Given the description of an element on the screen output the (x, y) to click on. 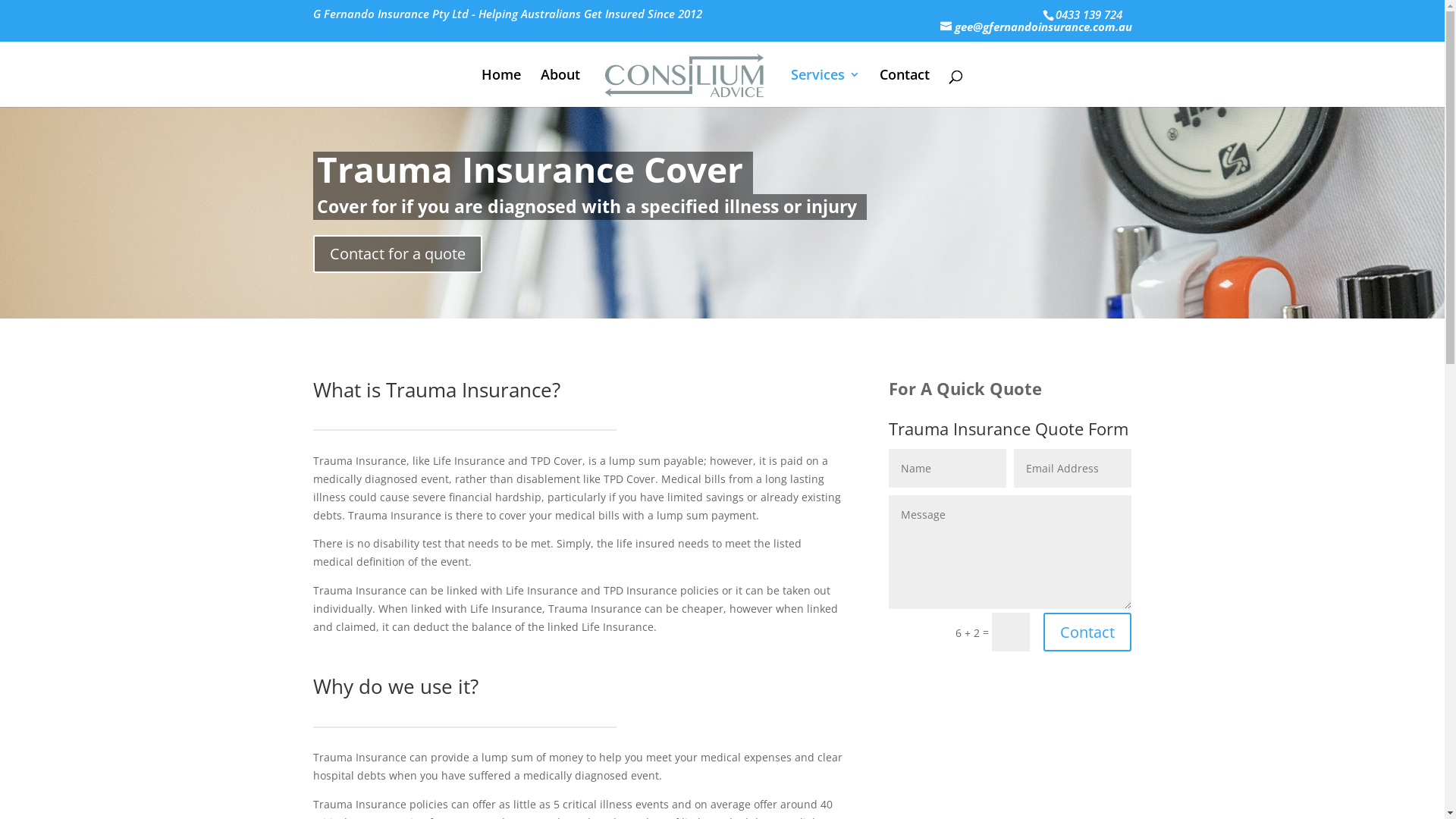
About Element type: text (560, 87)
Contact for a quote Element type: text (396, 254)
gee@gfernandoinsurance.com.au Element type: text (1036, 26)
Services Element type: text (824, 87)
Home Element type: text (500, 87)
Contact Element type: text (904, 87)
Contact Element type: text (1087, 631)
